Given the description of an element on the screen output the (x, y) to click on. 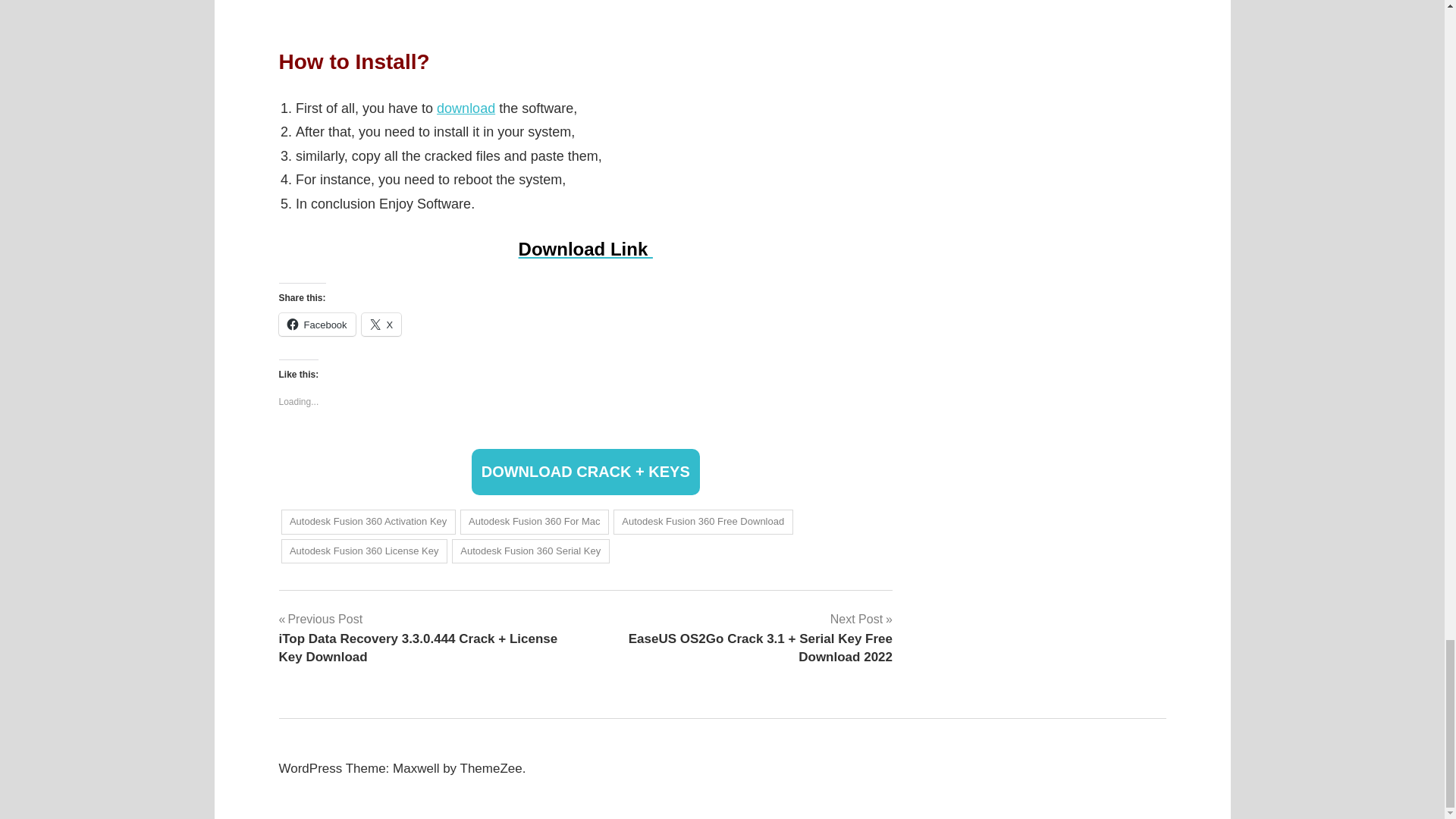
Fusion 360 For Beginners - Recorded Webinar (586, 9)
X (381, 323)
Autodesk Fusion 360 Activation Key (367, 521)
Facebook (317, 323)
Download Link  (585, 249)
Autodesk Fusion 360 License Key (363, 551)
Autodesk Fusion 360 Free Download (702, 521)
Click to share on X (381, 323)
download (465, 108)
Autodesk Fusion 360 For Mac (534, 521)
Click to share on Facebook (317, 323)
